Given the description of an element on the screen output the (x, y) to click on. 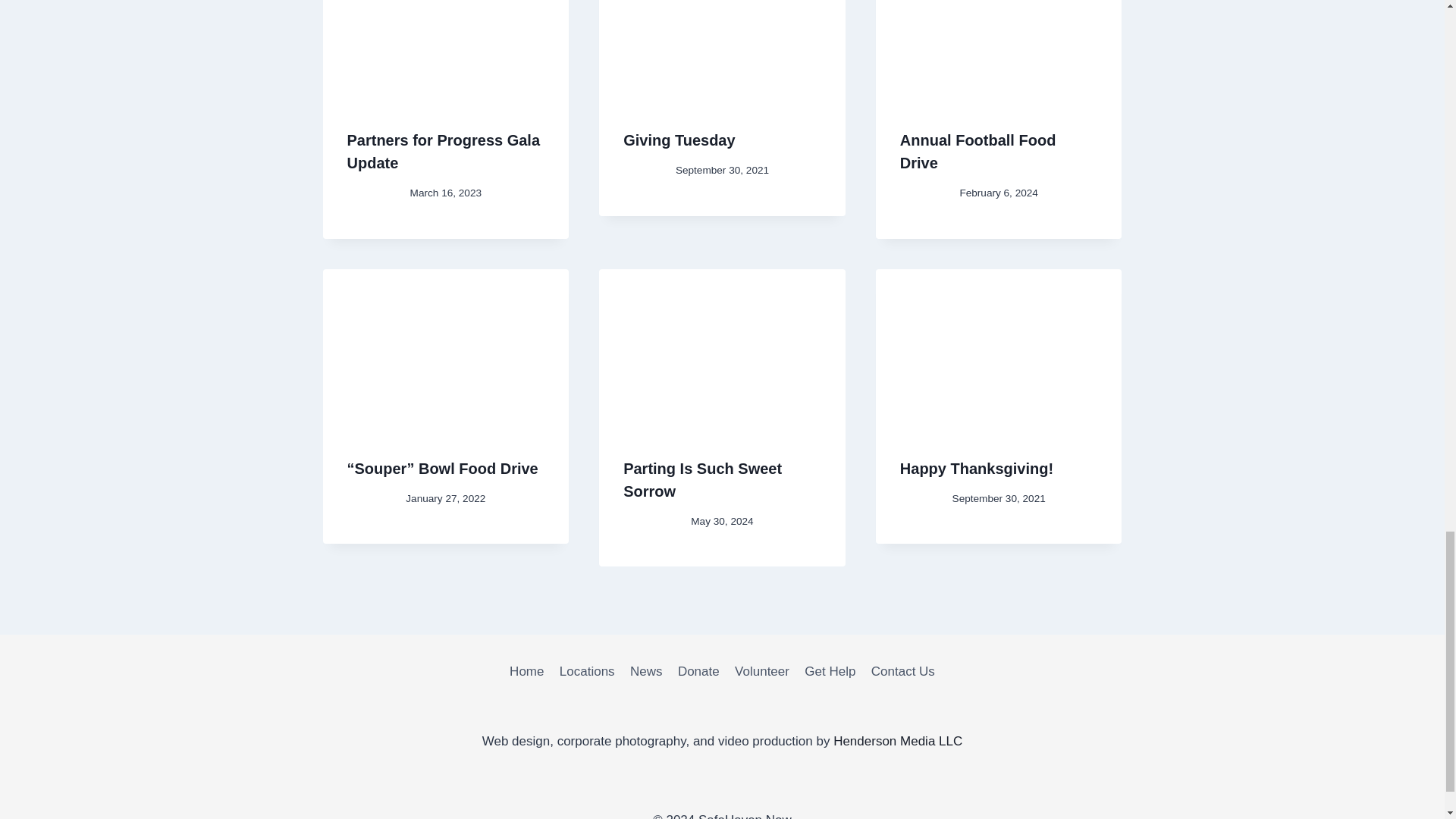
Contact Us (902, 671)
Get Help (829, 671)
Donate (697, 671)
Partners for Progress Gala Update (443, 151)
Home (526, 671)
Parting Is Such Sweet Sorrow (702, 479)
Volunteer (761, 671)
Annual Football Food Drive (978, 151)
Locations (587, 671)
News (646, 671)
